Given the description of an element on the screen output the (x, y) to click on. 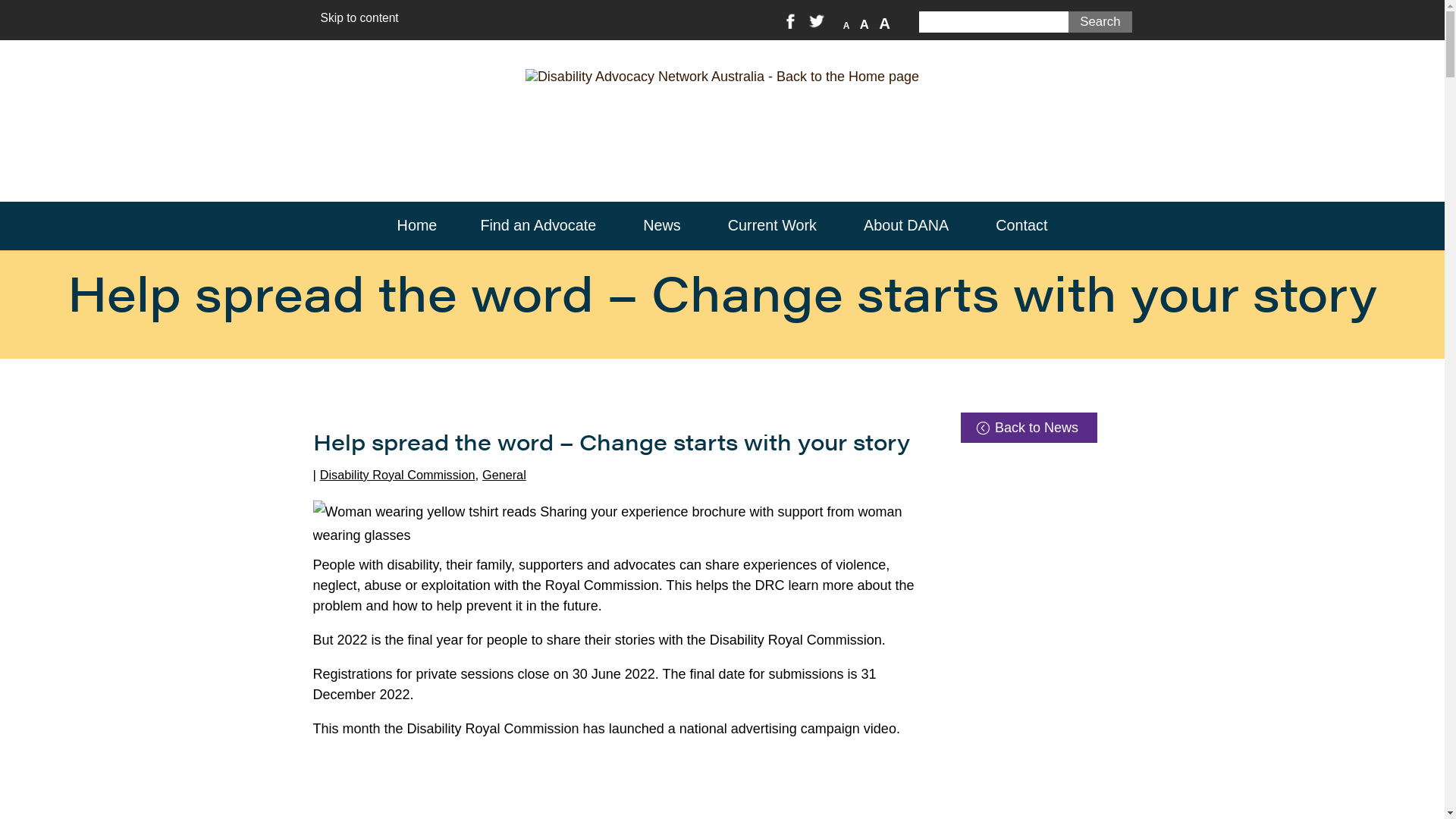
Current Work Element type: text (773, 225)
About DANA Element type: text (907, 225)
General Element type: text (504, 474)
Skip to content Element type: text (358, 18)
A Element type: text (864, 24)
News Element type: text (663, 225)
Find an Advocate Element type: text (539, 225)
Search Element type: text (1099, 21)
A Element type: text (884, 23)
Back to News Element type: text (1028, 427)
Contact Element type: text (1021, 225)
Find the information, search here Element type: hover (994, 21)
Disability Royal Commission Element type: text (397, 474)
A Element type: text (846, 25)
Home Element type: text (416, 225)
